Given the description of an element on the screen output the (x, y) to click on. 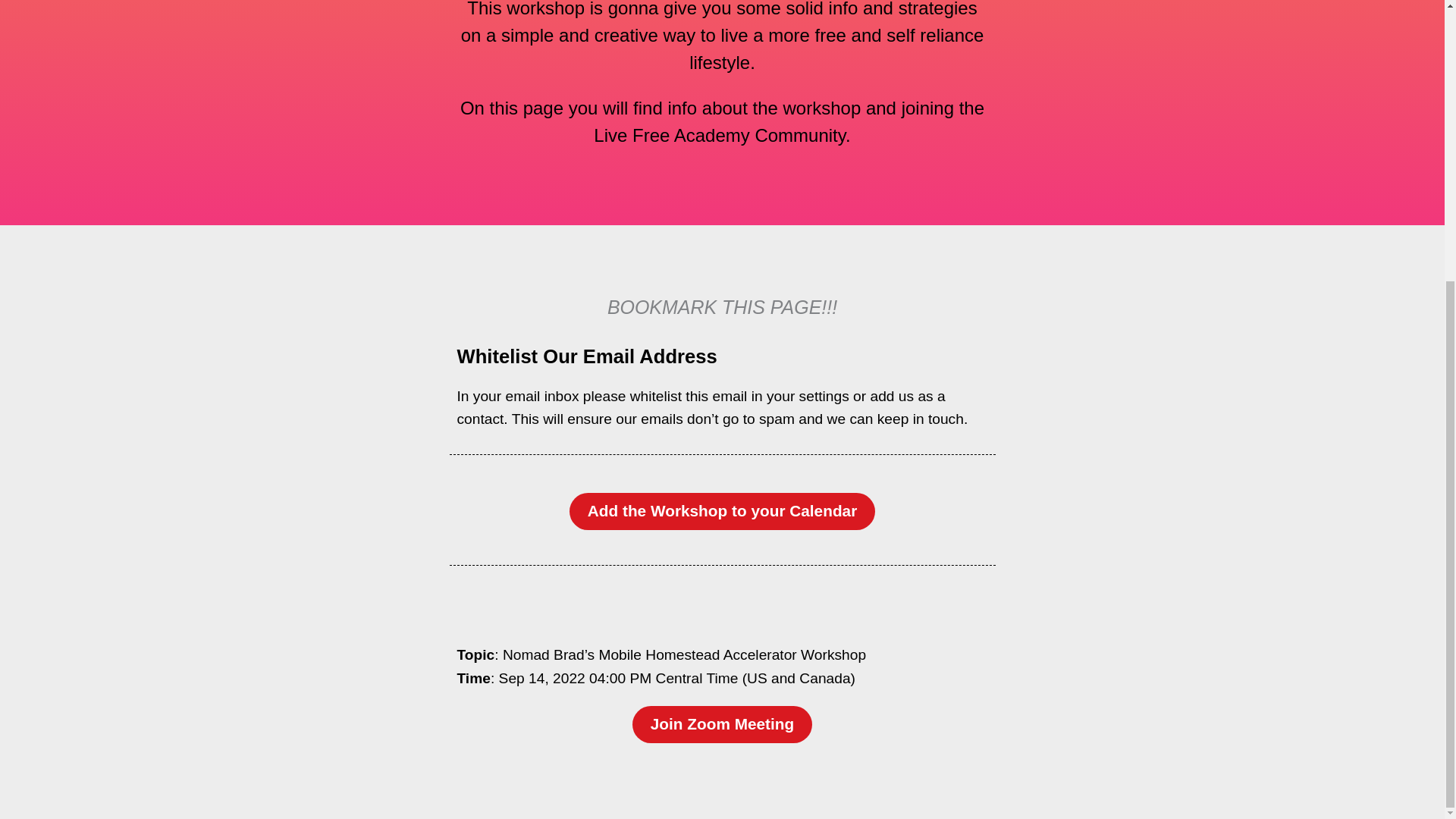
Join Zoom Meeting (721, 723)
Add the Workshop to your Calendar (722, 511)
